Given the description of an element on the screen output the (x, y) to click on. 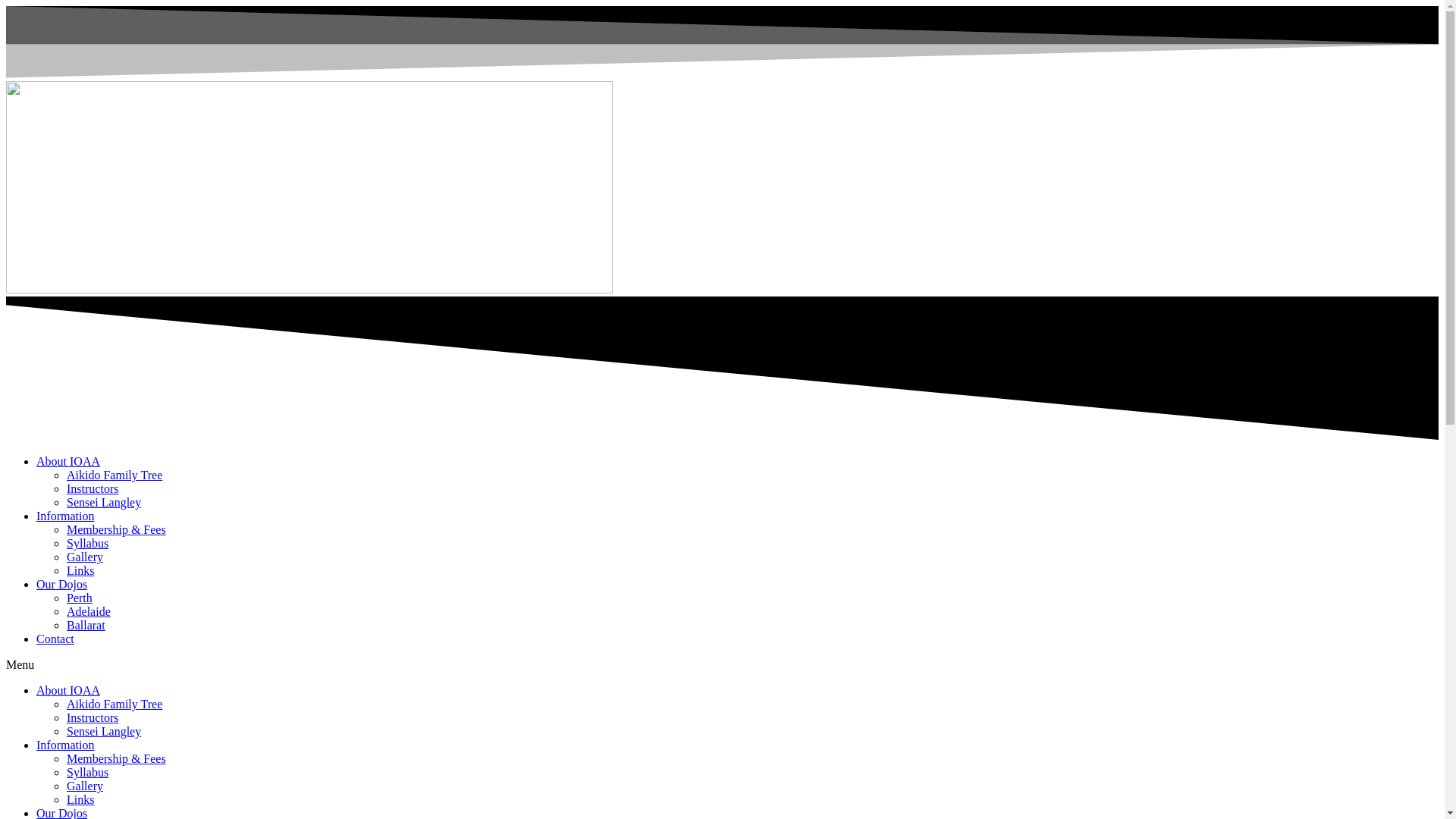
Our Dojos Element type: text (61, 583)
Perth Element type: text (79, 597)
Aikido Family Tree Element type: text (114, 703)
Syllabus Element type: text (87, 542)
Membership & Fees Element type: text (116, 758)
Links Element type: text (80, 799)
Gallery Element type: text (84, 556)
Links Element type: text (80, 570)
Instructors Element type: text (92, 488)
Aikido Family Tree Element type: text (114, 474)
About IOAA Element type: text (68, 690)
Membership & Fees Element type: text (116, 529)
Instructors Element type: text (92, 717)
Adelaide Element type: text (88, 611)
Information Element type: text (65, 744)
Ballarat Element type: text (85, 624)
Sensei Langley Element type: text (103, 730)
Sensei Langley Element type: text (103, 501)
Gallery Element type: text (84, 785)
Information Element type: text (65, 515)
Syllabus Element type: text (87, 771)
About IOAA Element type: text (68, 461)
Contact Element type: text (55, 638)
